Given the description of an element on the screen output the (x, y) to click on. 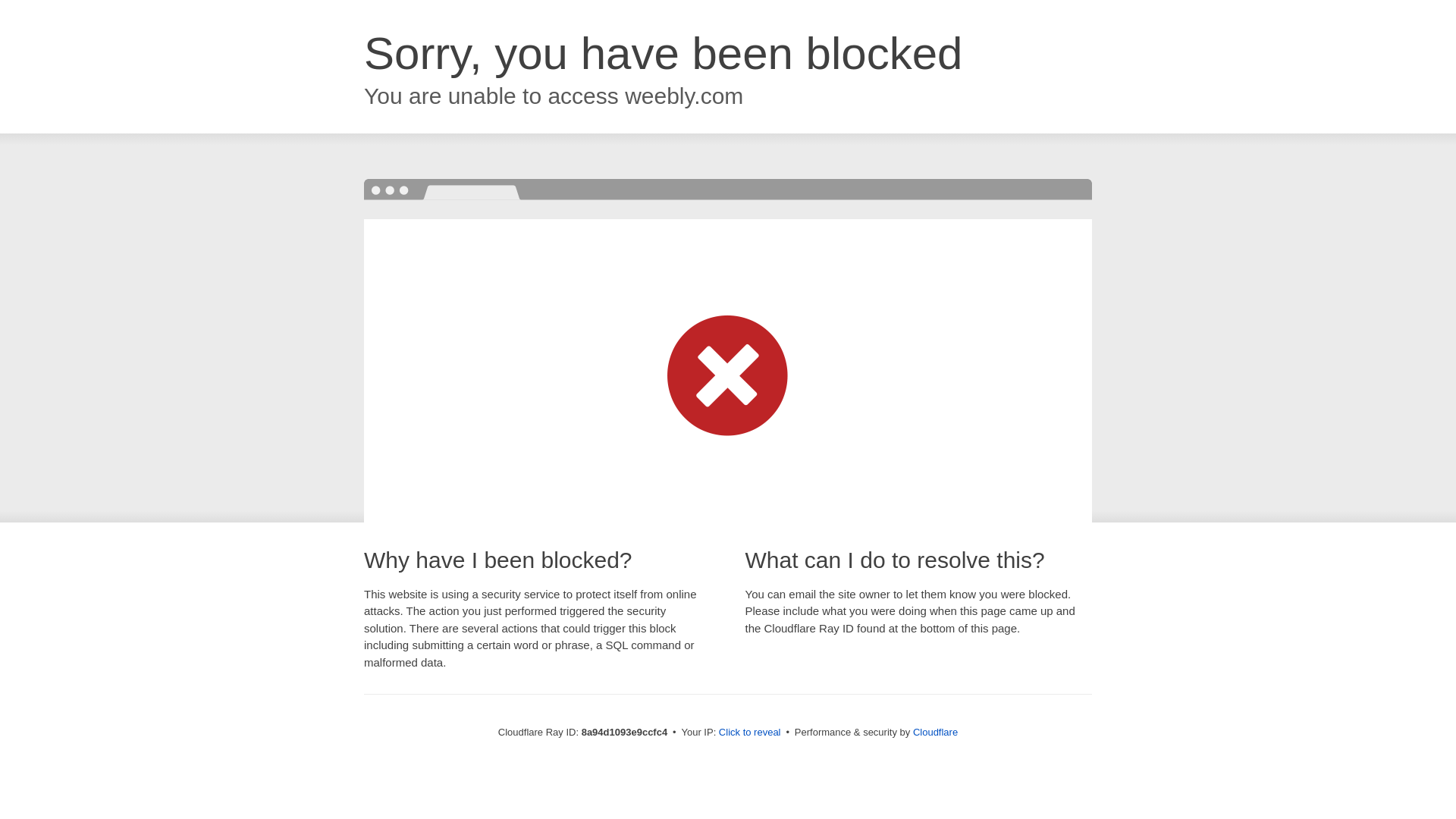
Cloudflare (935, 731)
Click to reveal (749, 732)
